Given the description of an element on the screen output the (x, y) to click on. 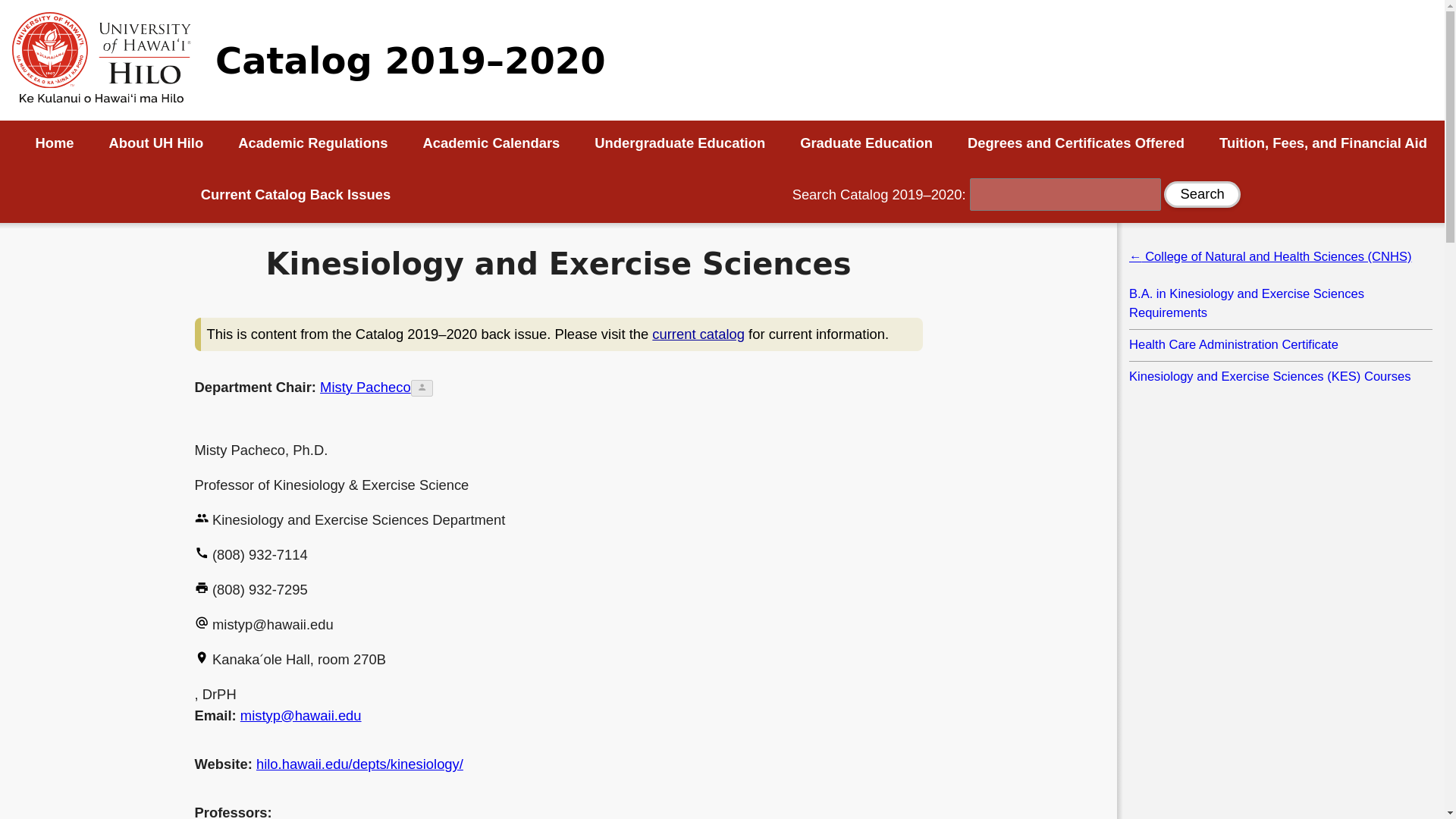
Health Care Administration Certificate (1280, 344)
B.A. in Kinesiology and Exercise Sciences Requirements (1280, 303)
Academic Regulations (311, 143)
Academic Calendars (491, 143)
About UH Hilo (156, 143)
Home (45, 143)
Current Catalog Back Issues (296, 194)
Undergraduate Education (679, 143)
Tuition, Fees, and Financial Aid (1323, 143)
Graduate Education (865, 143)
Search (1201, 194)
Degrees and Certificates Offered (1075, 143)
current catalog (698, 333)
